Given the description of an element on the screen output the (x, y) to click on. 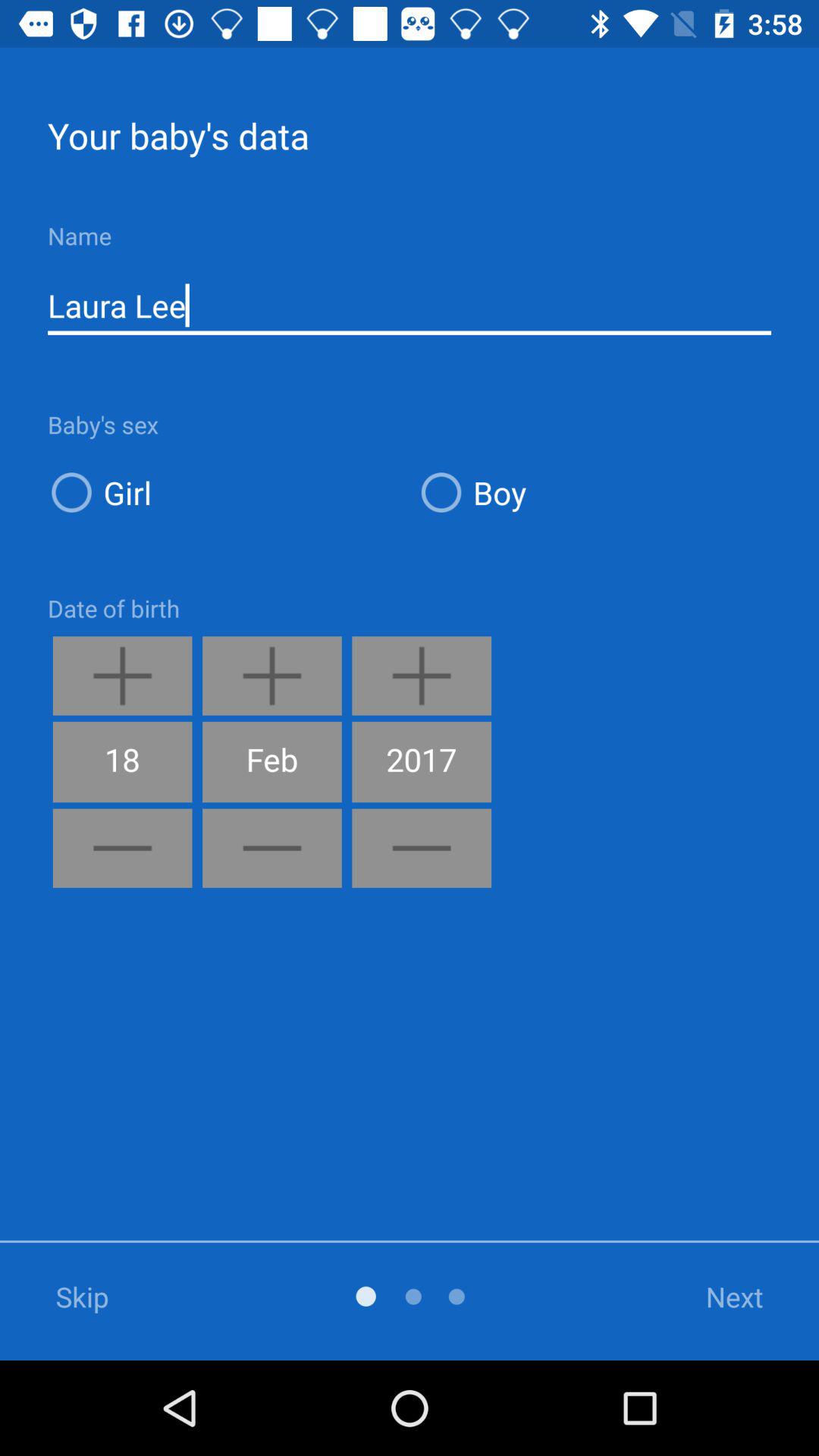
open the icon at the bottom right corner (715, 1296)
